Given the description of an element on the screen output the (x, y) to click on. 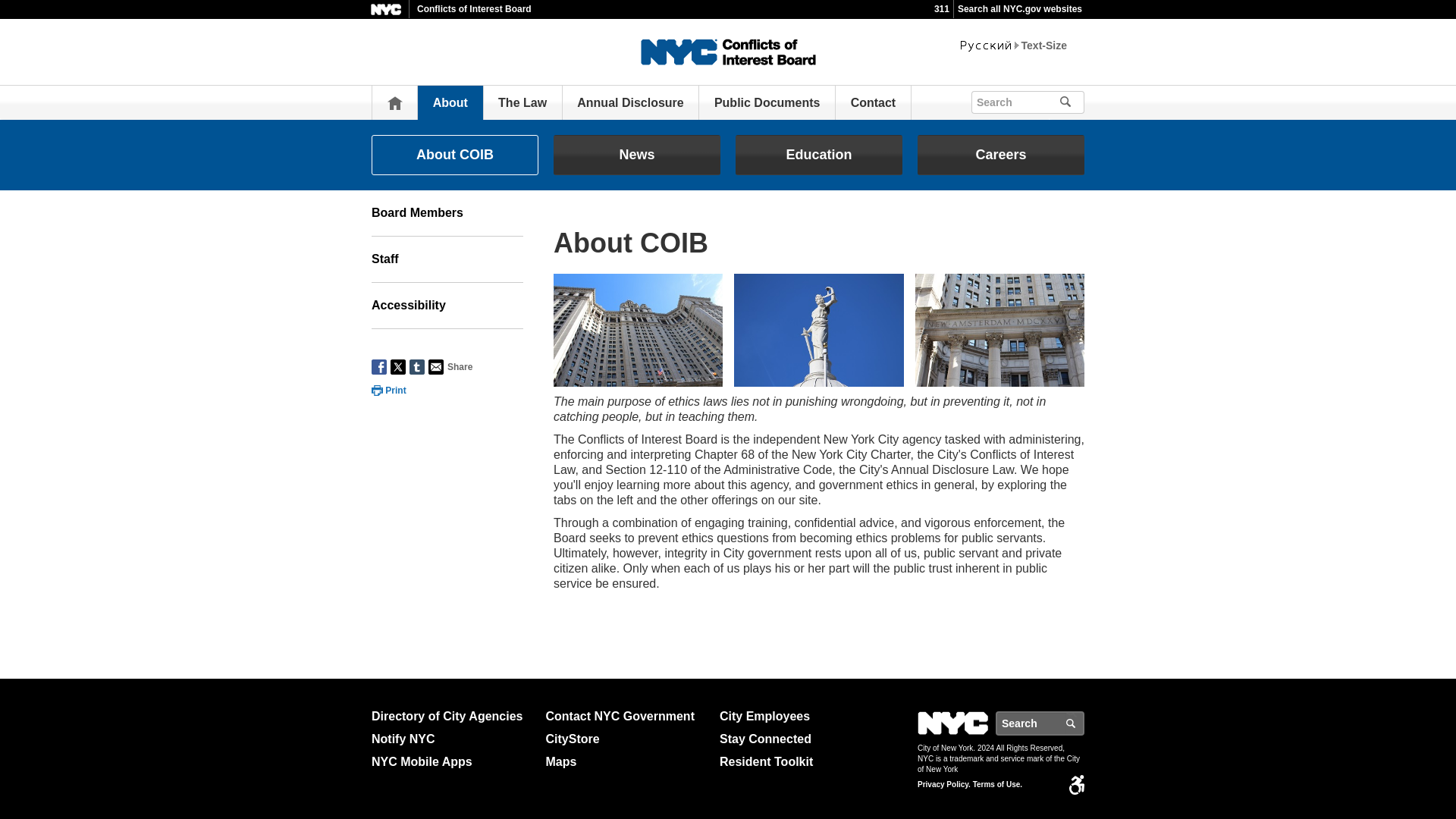
submit (1071, 101)
About COIB (454, 155)
City Employees (800, 716)
311 (941, 9)
submit (1087, 100)
Directory of City Agencies (452, 716)
Contact (873, 102)
Notify NYC (452, 739)
submit (1087, 100)
Staff (446, 259)
Search all NYC.gov websites (1019, 9)
Text-Size (1044, 45)
submit (1071, 101)
Careers (1000, 155)
Contact NYC Government (626, 716)
